Given the description of an element on the screen output the (x, y) to click on. 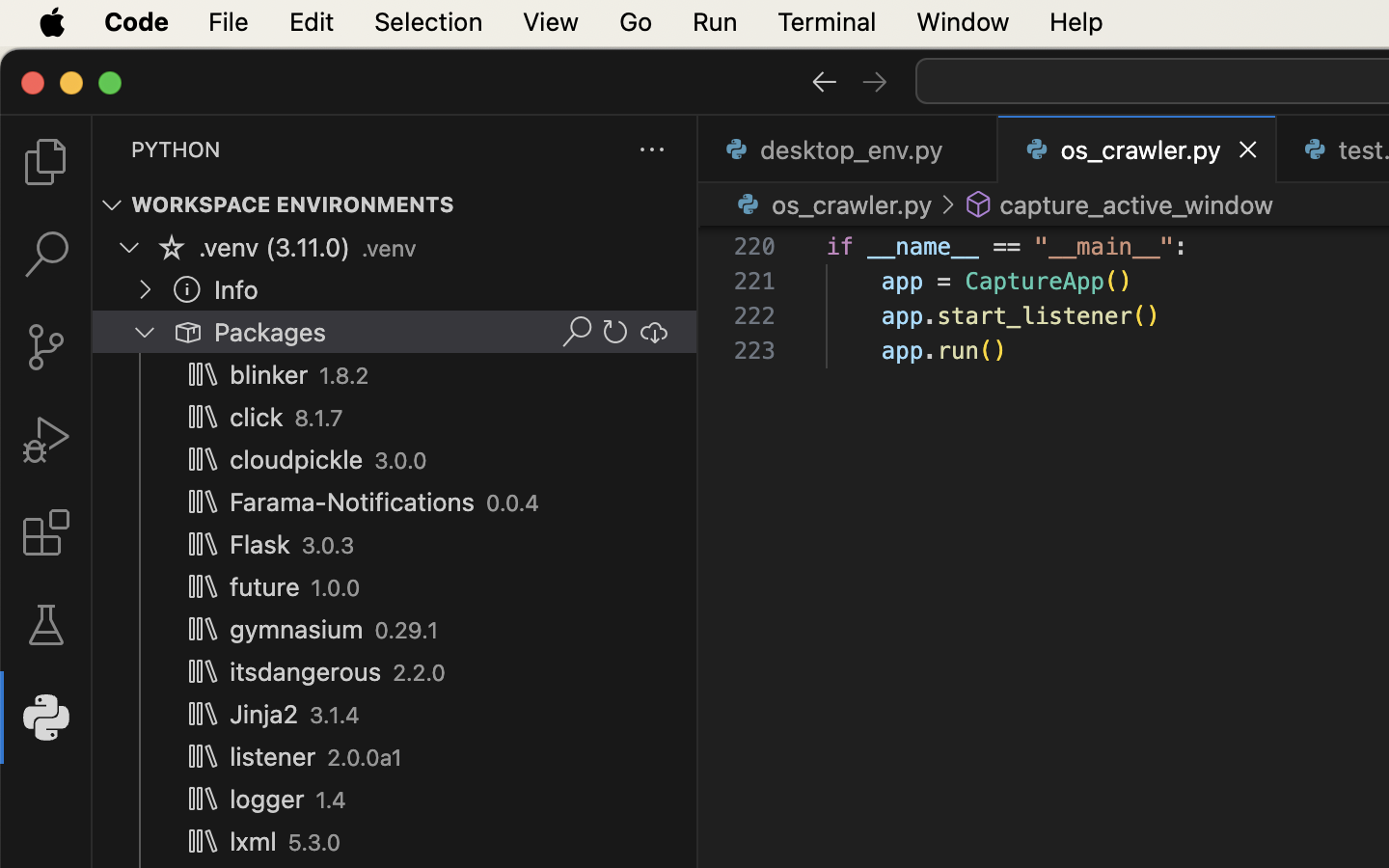
0.29.1 Element type: AXStaticText (406, 630)
0  Element type: AXRadioButton (46, 532)
1.4 Element type: AXStaticText (331, 799)
Packages Element type: AXStaticText (270, 332)
.venv (3.11.0) Element type: AXStaticText (274, 247)
